Given the description of an element on the screen output the (x, y) to click on. 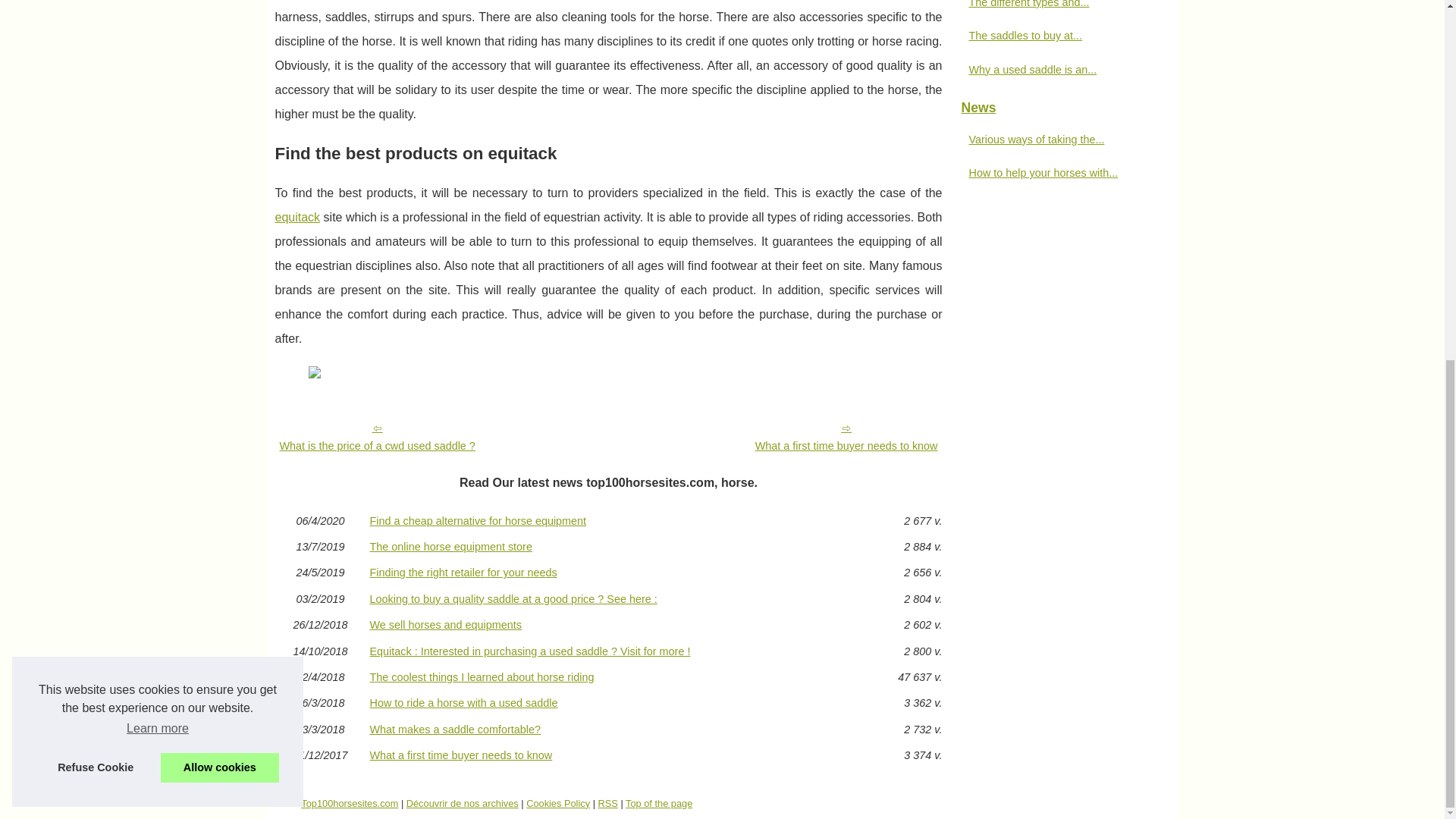
The coolest things I learned about horse riding (608, 676)
How to ride a horse with a used saddle (608, 702)
How to help your horses with... (1055, 172)
Find a cheap alternative for horse equipment (608, 520)
How to ride a horse with a used saddle (608, 702)
What makes a saddle comfortable? (608, 728)
Learn more (156, 90)
Cookies Policy (557, 803)
Top100horsesites.com (349, 803)
Looking to buy a quality saddle at a good price ? See here : (608, 598)
The coolest things I learned about horse riding (608, 676)
Allow cookies (219, 129)
equitack (297, 216)
What a first time buyer needs to know (608, 755)
What makes a saddle comfortable? (608, 728)
